Given the description of an element on the screen output the (x, y) to click on. 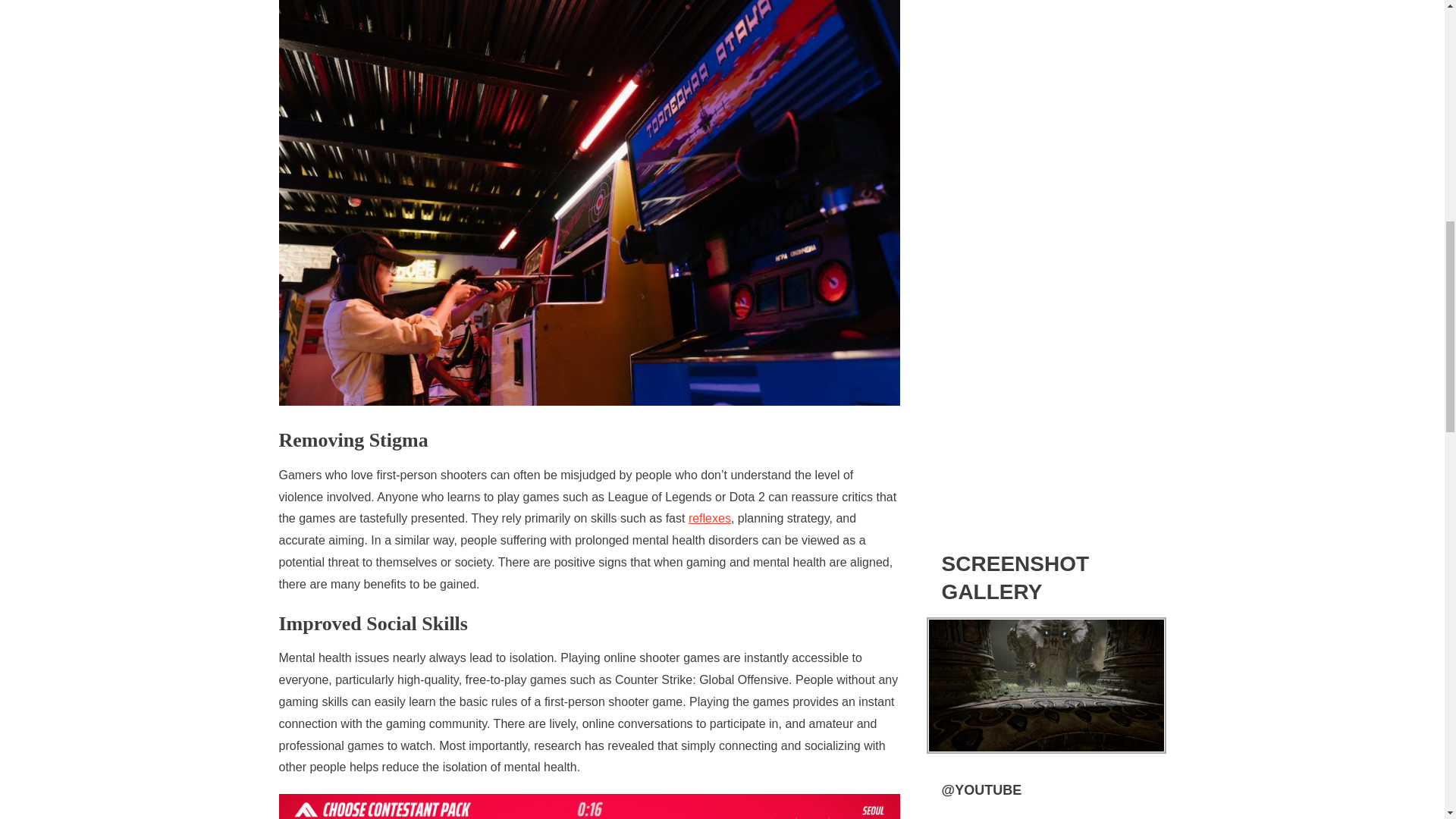
sotc57 (1046, 685)
reflexes (709, 517)
